Given the description of an element on the screen output the (x, y) to click on. 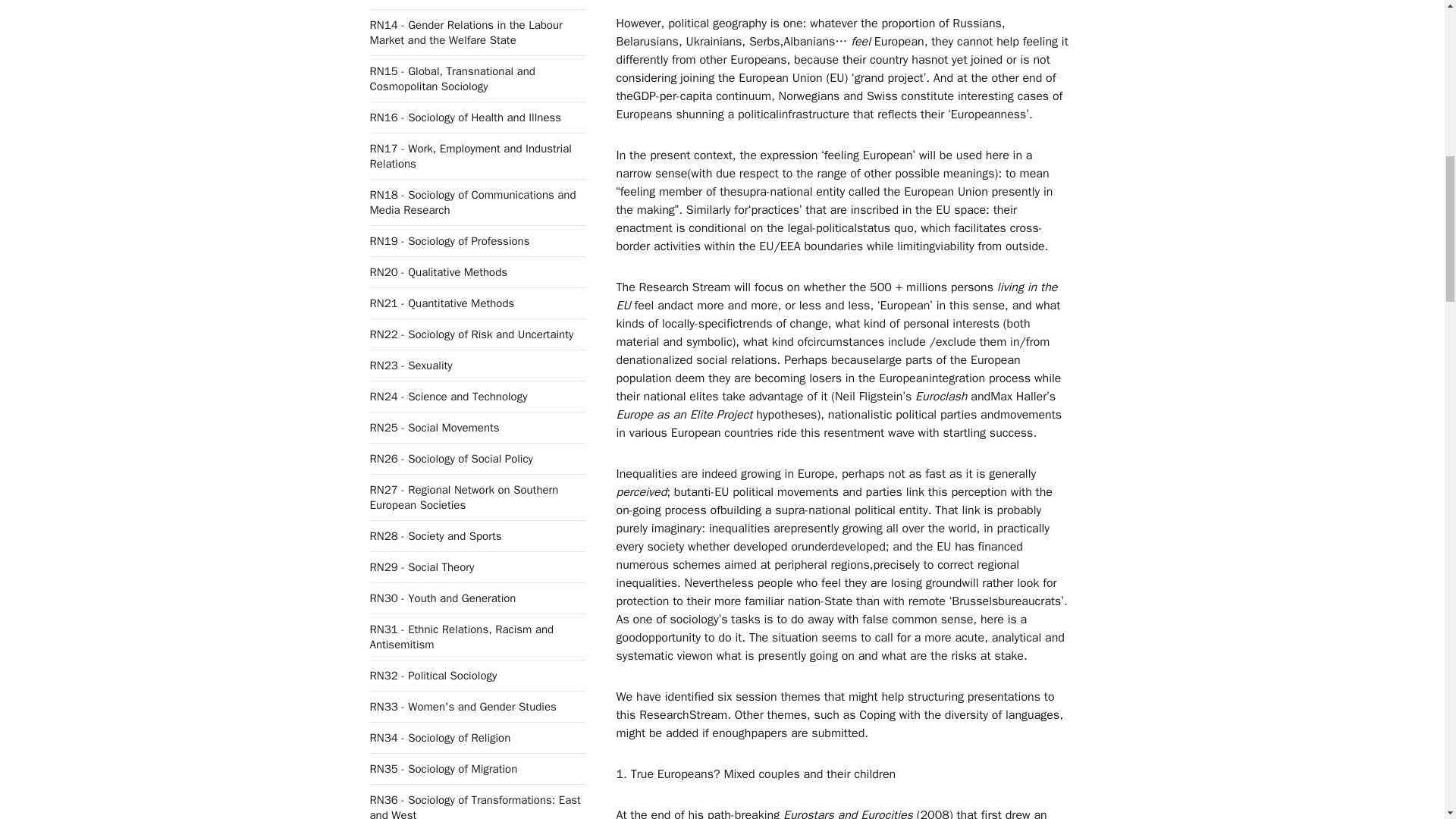
RN17 - Work, Employment and Industrial Relations (470, 155)
RN23 - Sexuality (410, 365)
RN15 - Global, Transnational and Cosmopolitan Sociology (452, 78)
RN18 - Sociology of Communications and Media Research (472, 202)
RN16 - Sociology of Health and Illness (465, 117)
RN21 - Quantitative Methods (442, 303)
RN20 - Qualitative Methods (438, 272)
RN22 - Sociology of Risk and Uncertainty (471, 334)
RN19 - Sociology of Professions (449, 241)
